Given the description of an element on the screen output the (x, y) to click on. 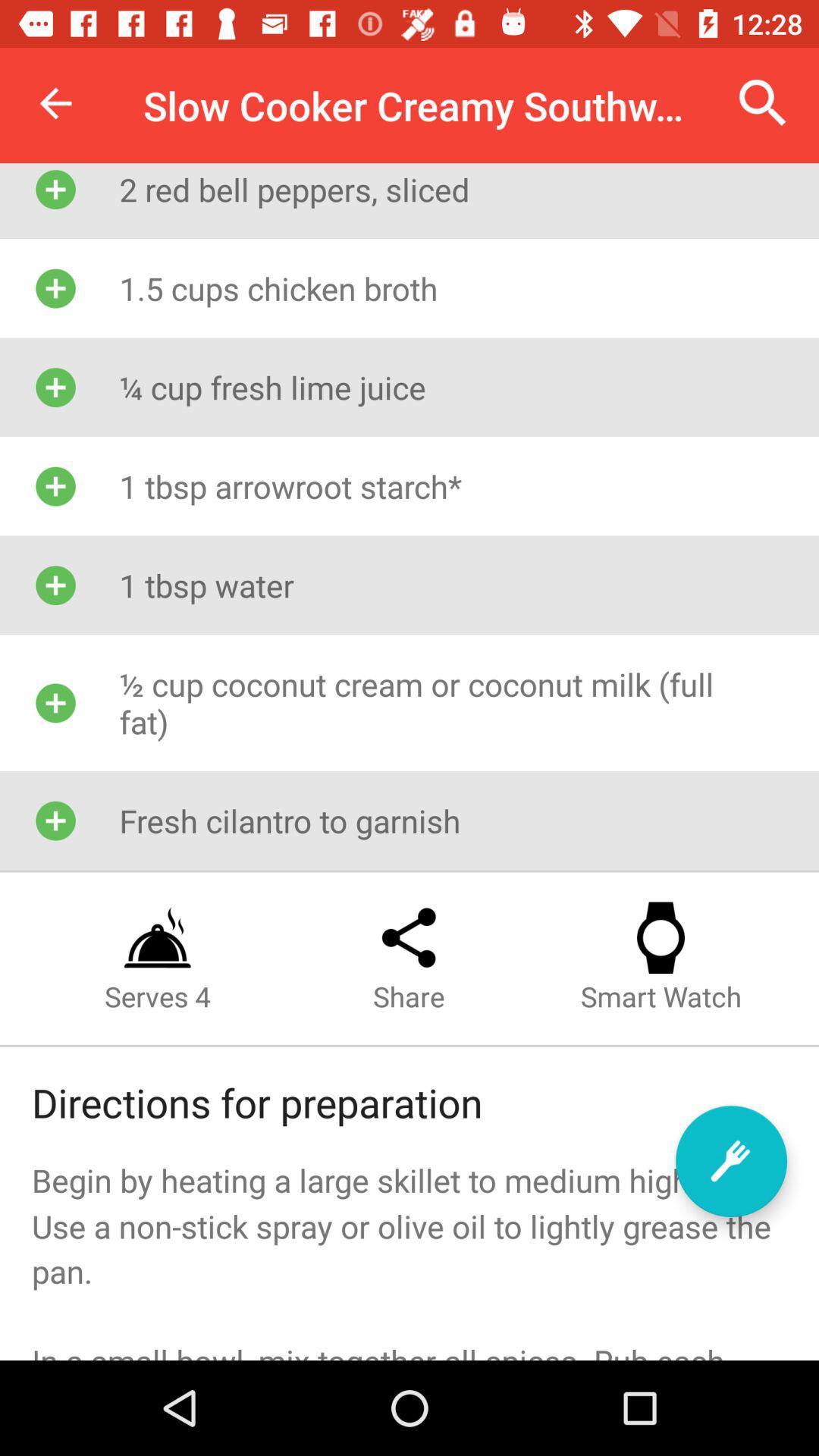
turn on the item to the right of the slow cooker creamy icon (763, 103)
